Given the description of an element on the screen output the (x, y) to click on. 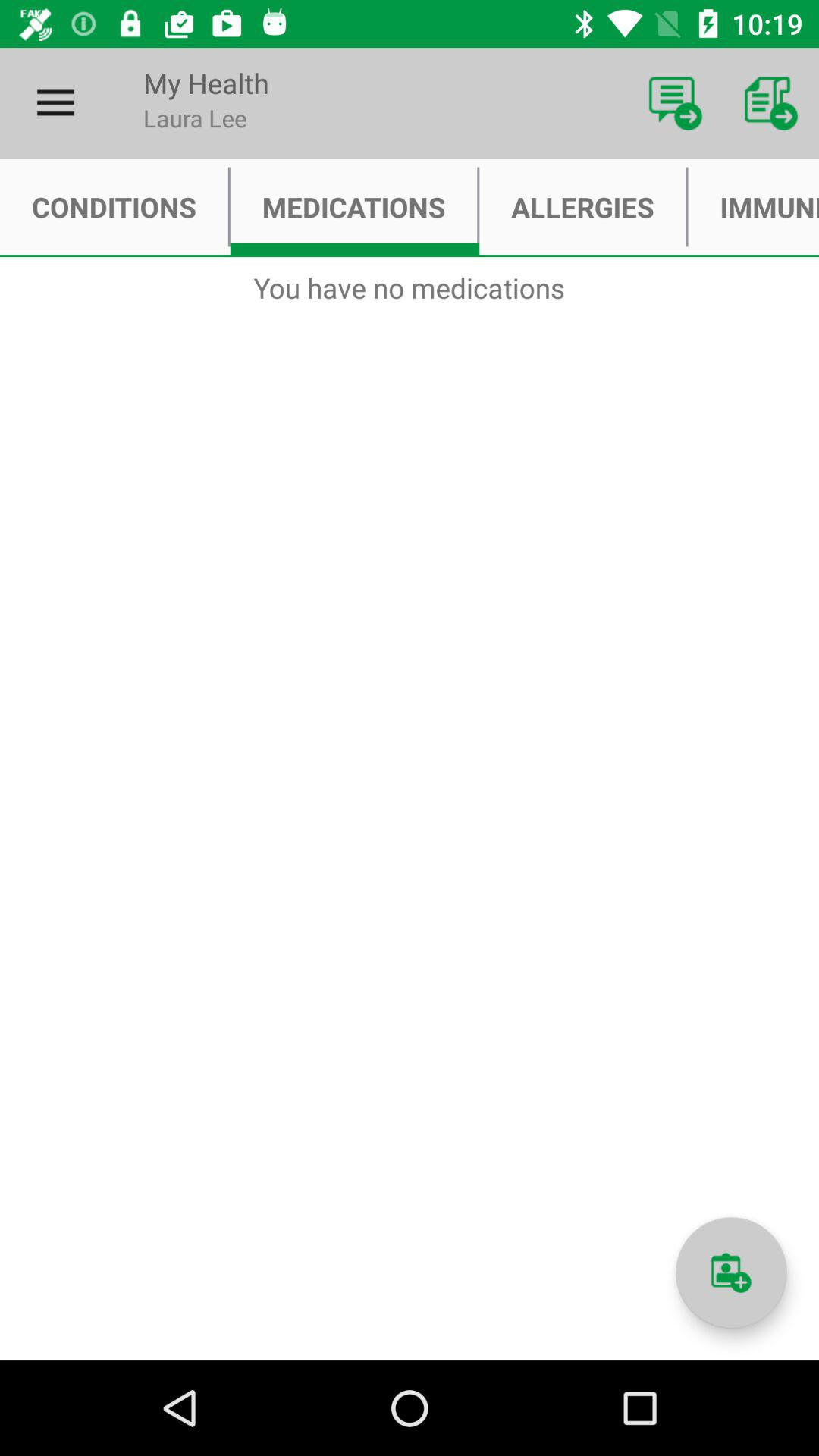
add a prescription (731, 1272)
